Given the description of an element on the screen output the (x, y) to click on. 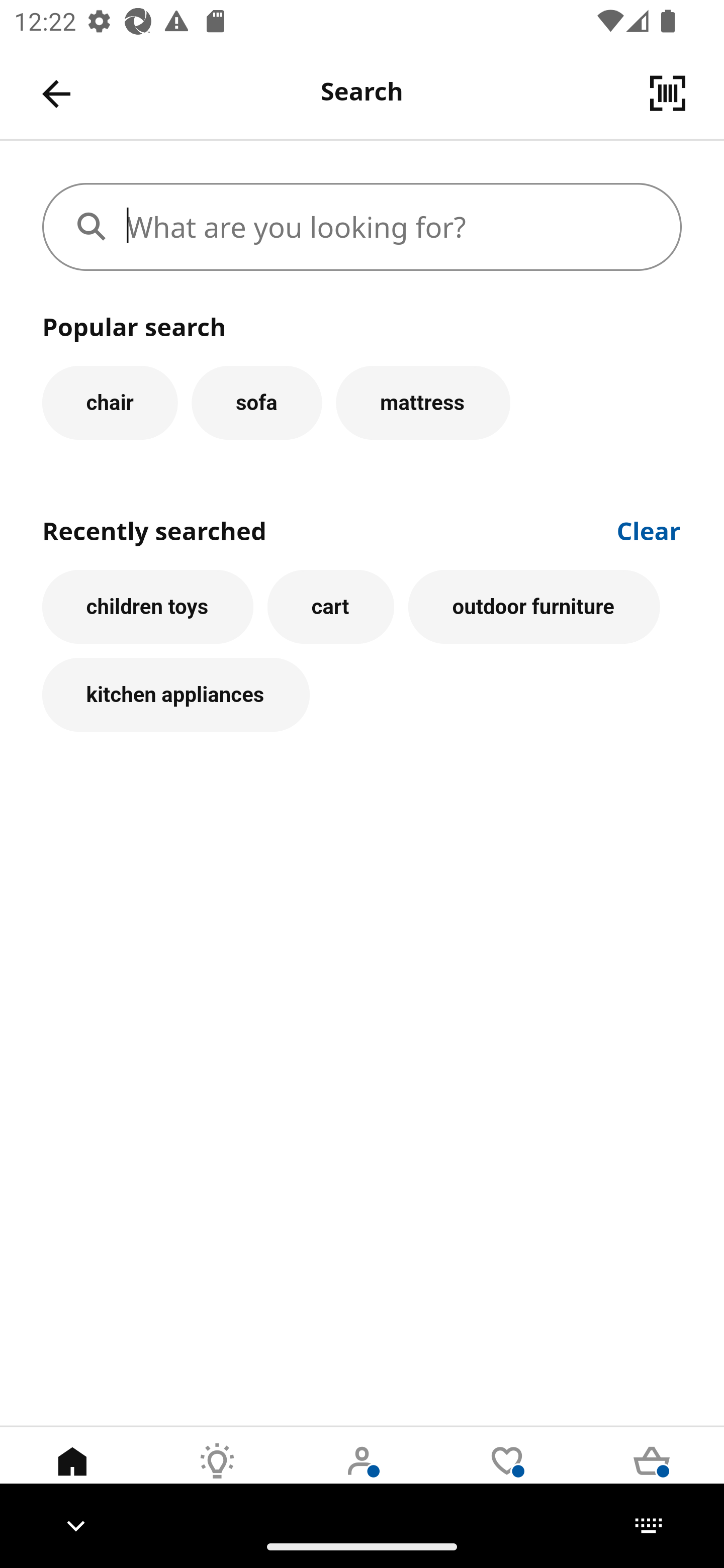
chair (109, 402)
sofa (256, 402)
mattress (423, 402)
Clear (649, 528)
children toys (147, 606)
cart (330, 606)
outdoor furniture (534, 606)
kitchen appliances (175, 695)
Home
Tab 1 of 5 (72, 1476)
Inspirations
Tab 2 of 5 (216, 1476)
User
Tab 3 of 5 (361, 1476)
Wishlist
Tab 4 of 5 (506, 1476)
Cart
Tab 5 of 5 (651, 1476)
